Given the description of an element on the screen output the (x, y) to click on. 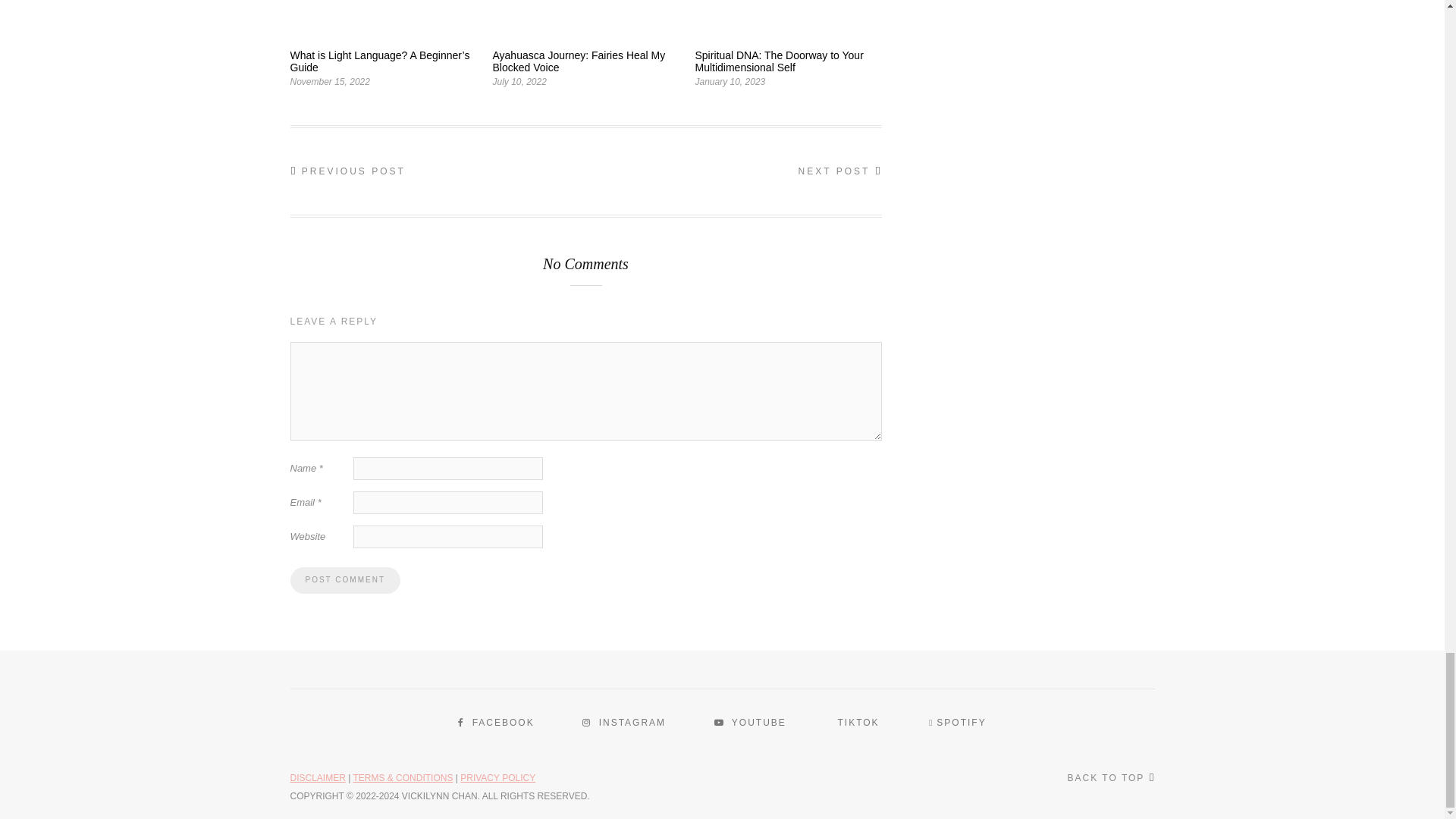
Post Comment (343, 580)
